Given the description of an element on the screen output the (x, y) to click on. 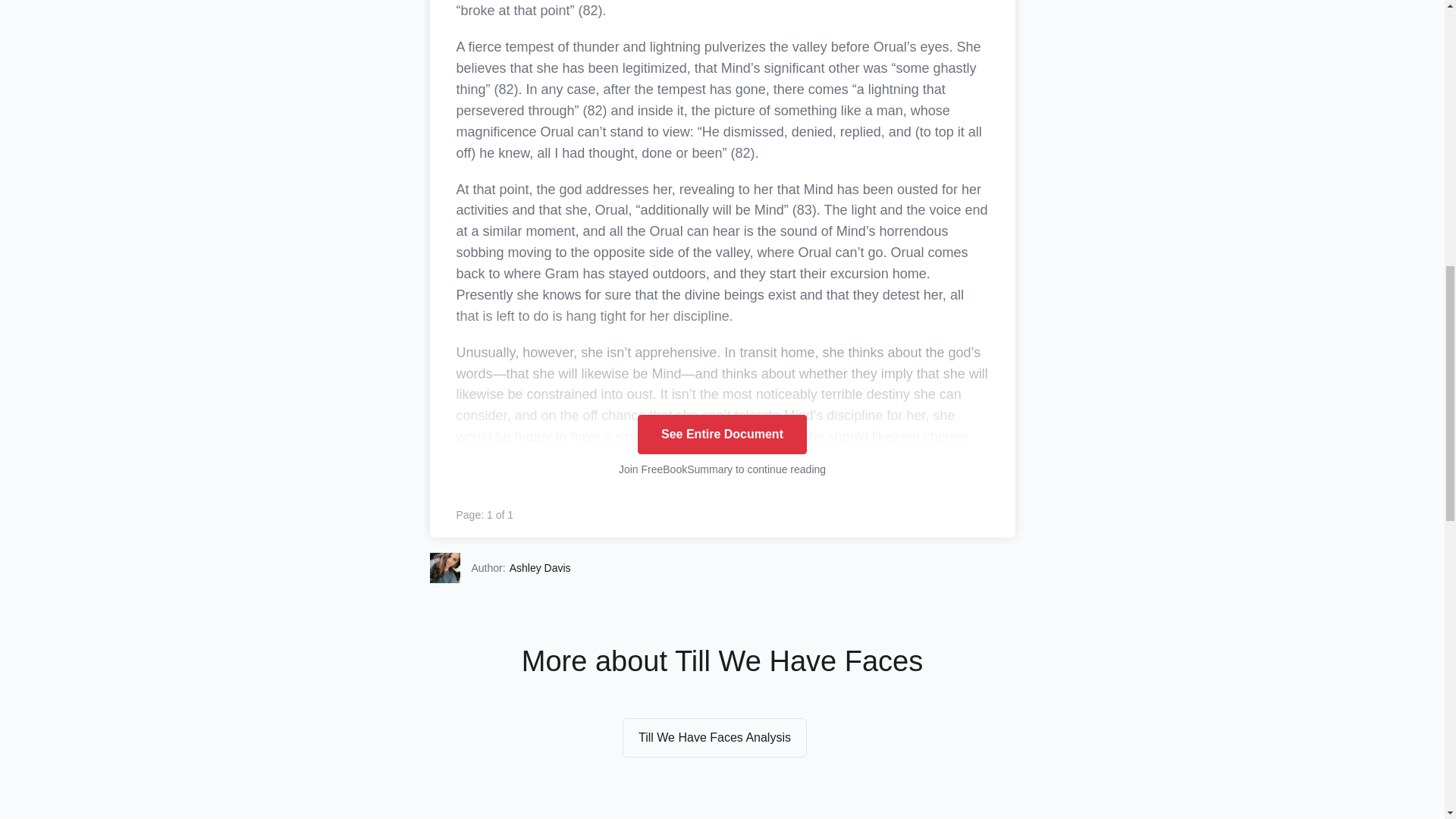
Till We Have Faces Analysis (714, 737)
